Given the description of an element on the screen output the (x, y) to click on. 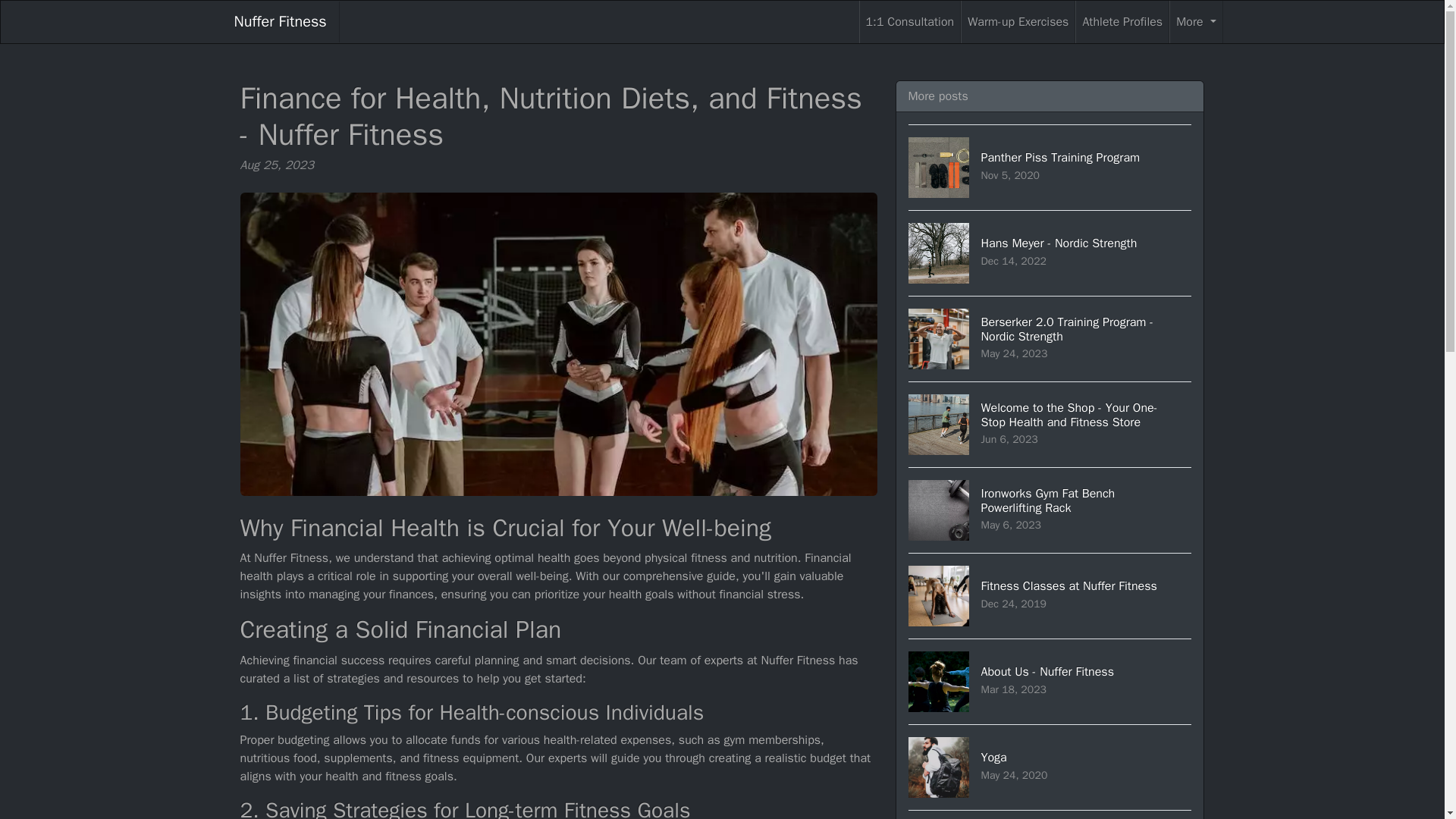
Warm-up Exercises (1017, 21)
1:1 Consultation (1050, 252)
Nuffer Fitness (1050, 814)
Athlete Profiles (909, 21)
More (1050, 595)
